Given the description of an element on the screen output the (x, y) to click on. 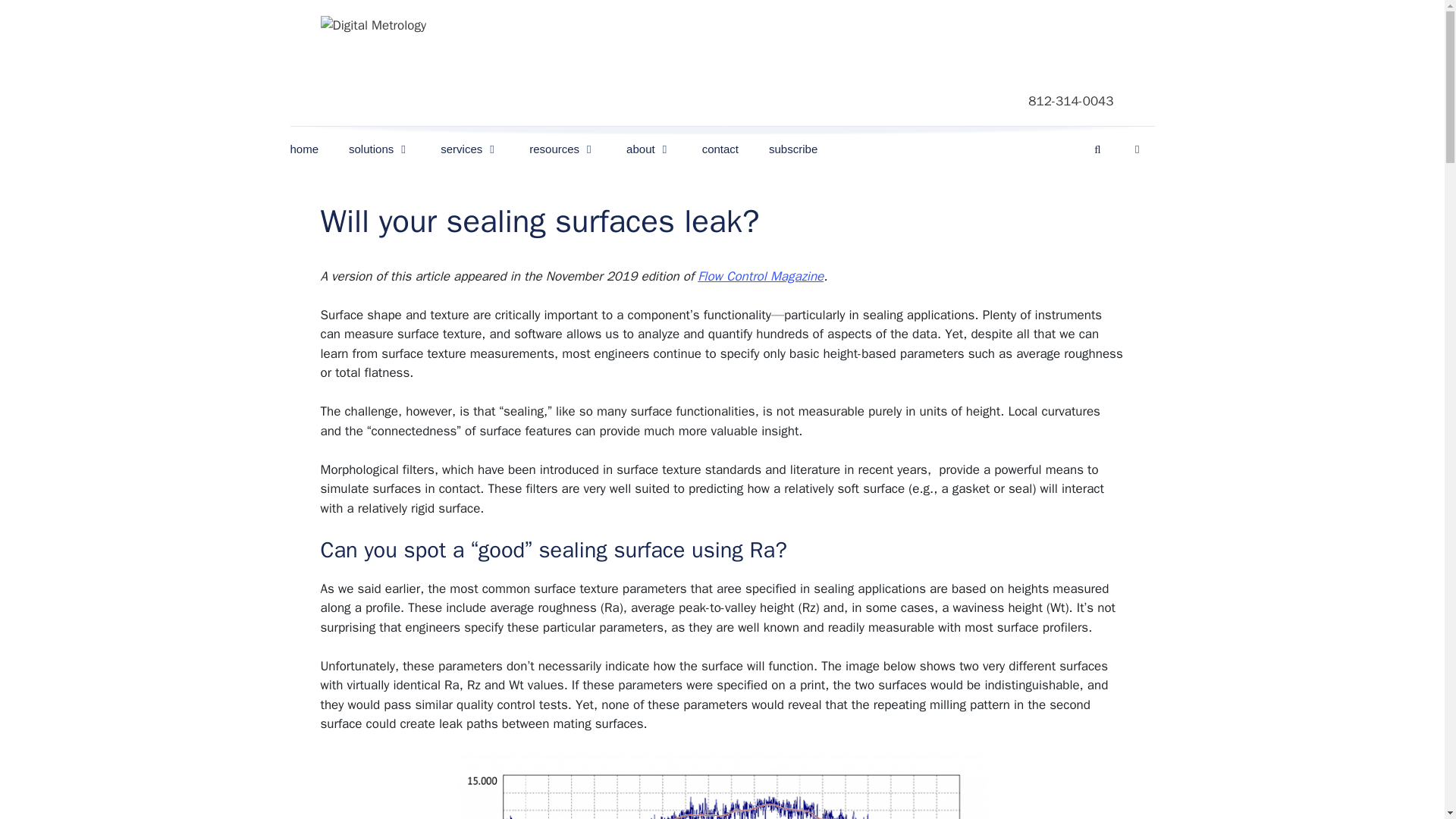
solutions (379, 148)
home (311, 148)
services (469, 148)
contact (720, 148)
about (649, 148)
resources (562, 148)
subscribe (793, 148)
